Given the description of an element on the screen output the (x, y) to click on. 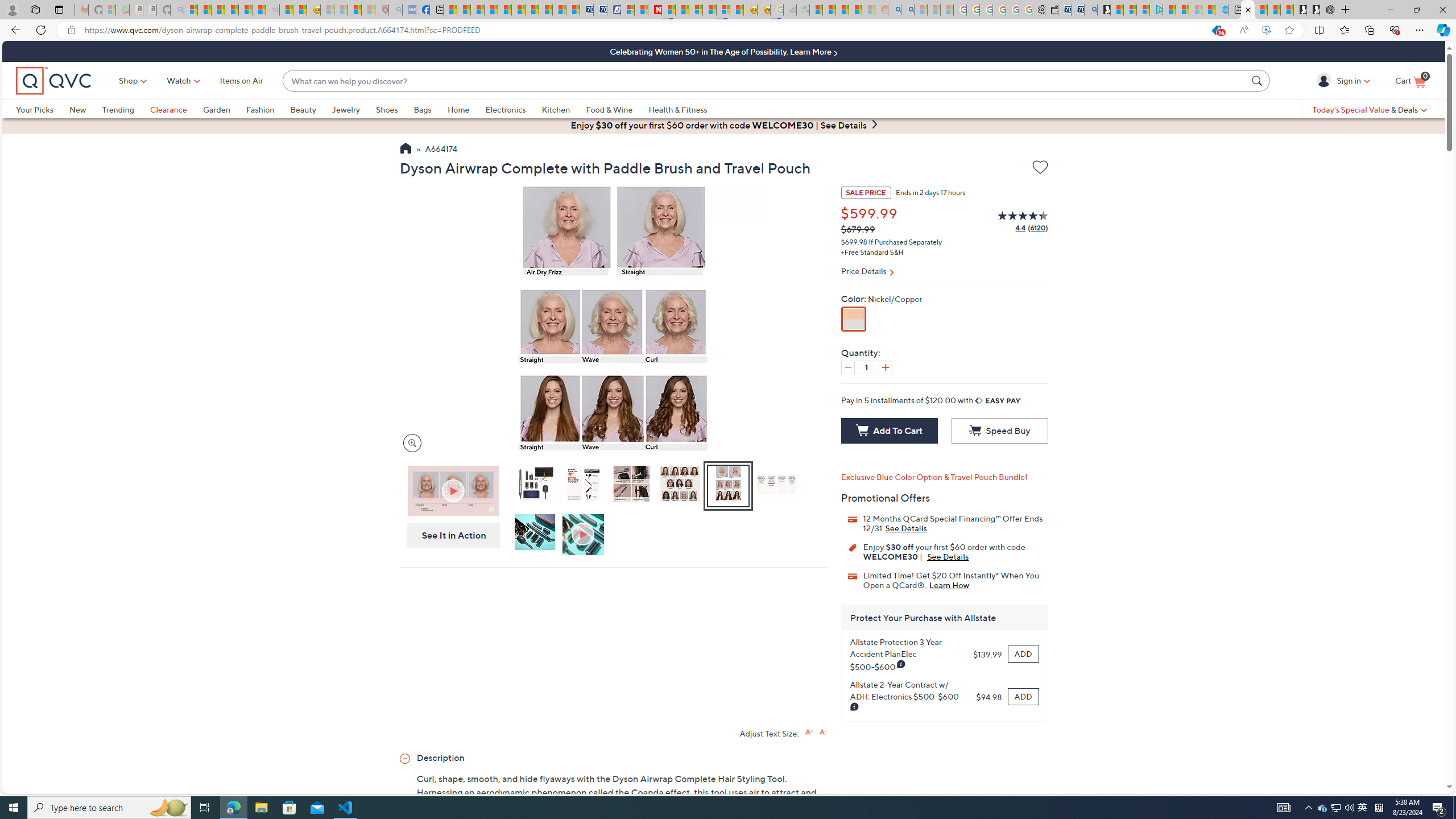
Increase font size (808, 731)
Shoes (394, 109)
Clearance (168, 109)
What can we help you discover? (764, 80)
Bags (421, 109)
Food & Wine (609, 109)
Fashion (268, 109)
Zoom product image, opens image gallery dialog (408, 442)
Jewelry (345, 109)
